Given the description of an element on the screen output the (x, y) to click on. 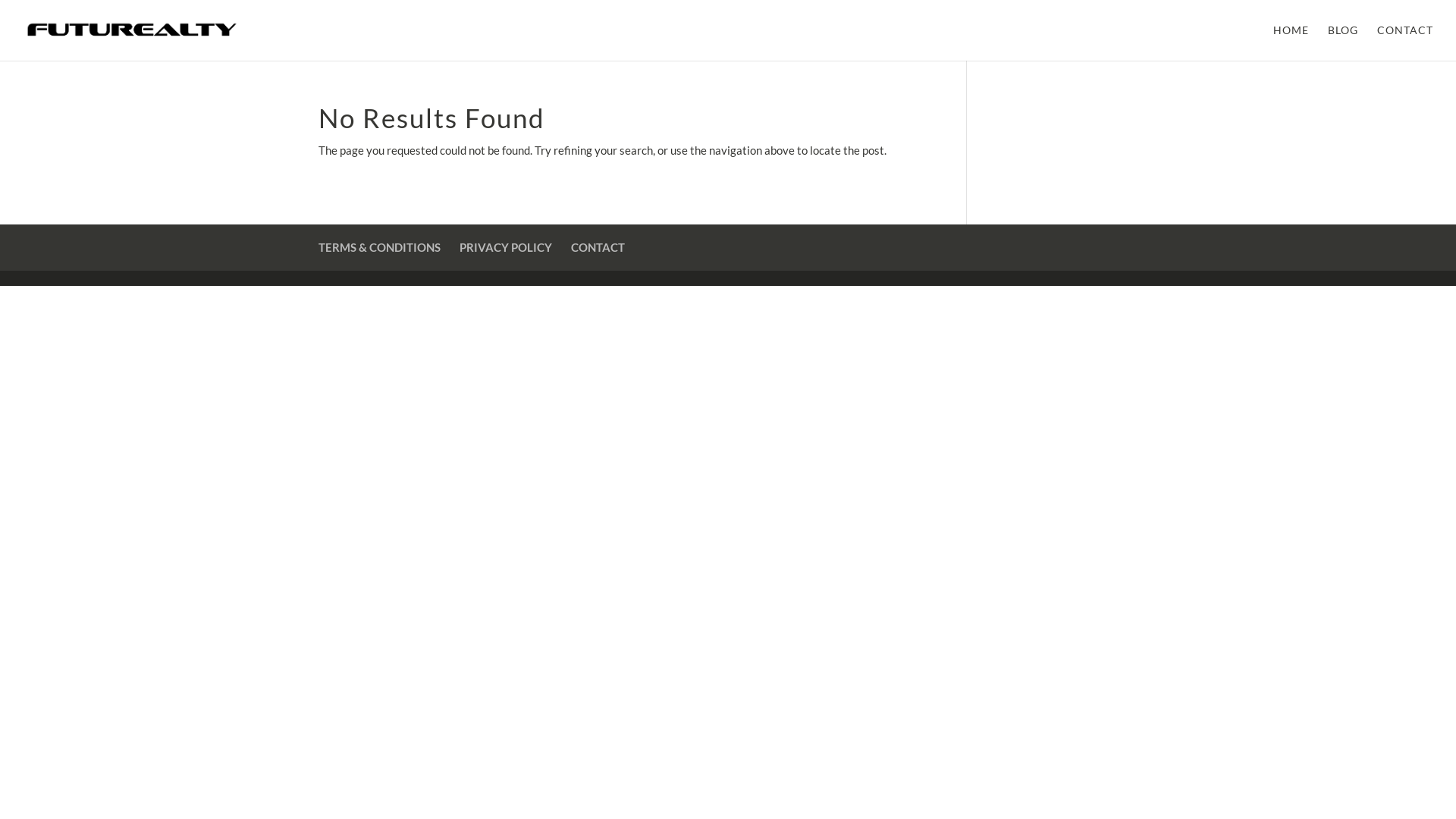
HOME Element type: text (1290, 42)
PRIVACY POLICY Element type: text (505, 247)
TERMS & CONDITIONS Element type: text (379, 247)
CONTACT Element type: text (597, 247)
BLOG Element type: text (1342, 42)
CONTACT Element type: text (1405, 42)
